Given the description of an element on the screen output the (x, y) to click on. 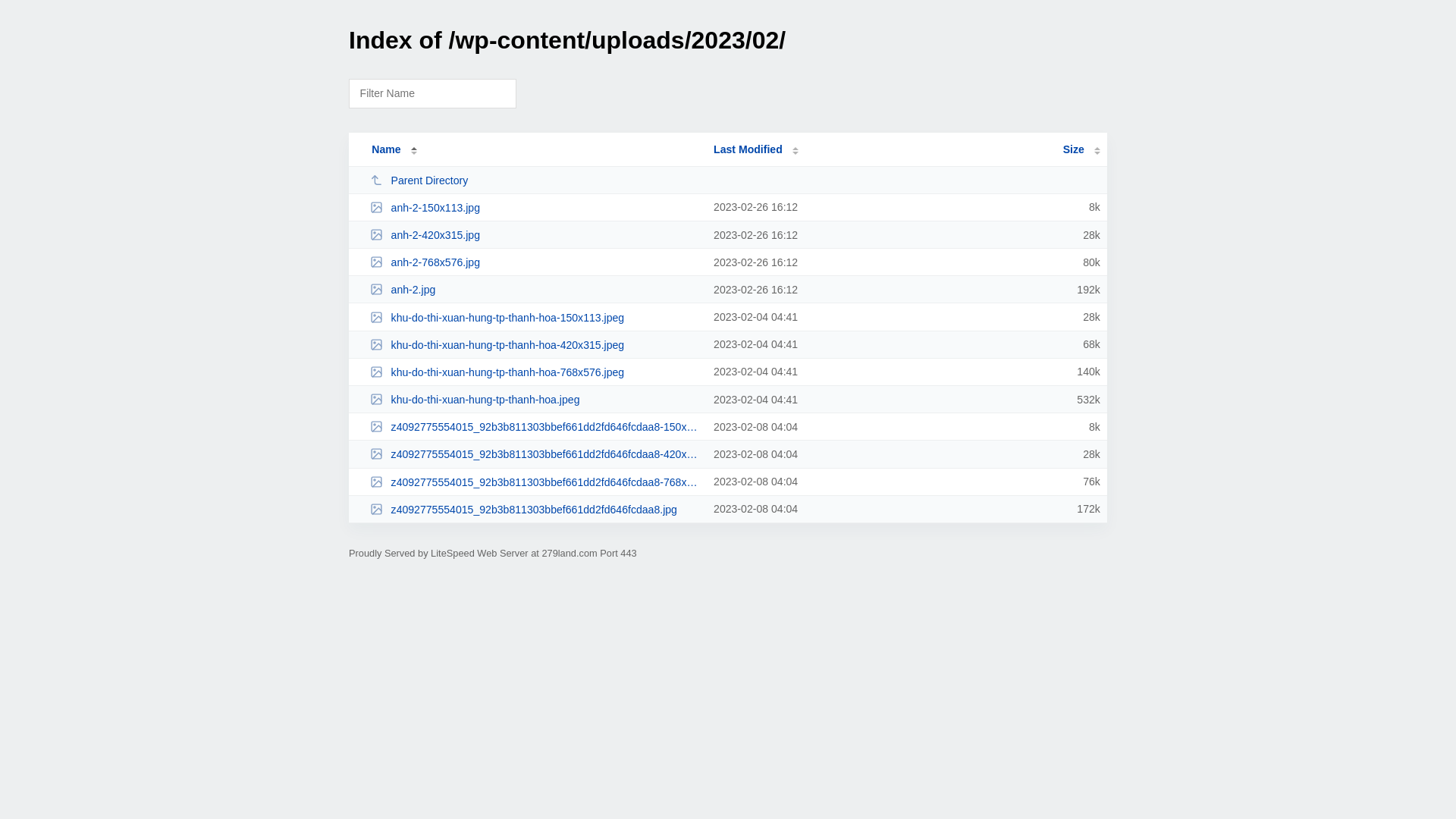
Size Element type: text (1081, 149)
khu-do-thi-xuan-hung-tp-thanh-hoa.jpeg Element type: text (534, 398)
anh-2-768x576.jpg Element type: text (534, 261)
z4092775554015_92b3b811303bbef661dd2fd646fcdaa8-768x576.jpg Element type: text (534, 481)
Name Element type: text (385, 149)
khu-do-thi-xuan-hung-tp-thanh-hoa-420x315.jpeg Element type: text (534, 344)
anh-2-420x315.jpg Element type: text (534, 234)
anh-2.jpg Element type: text (534, 288)
Last Modified Element type: text (755, 149)
khu-do-thi-xuan-hung-tp-thanh-hoa-768x576.jpeg Element type: text (534, 371)
Parent Directory Element type: text (534, 179)
z4092775554015_92b3b811303bbef661dd2fd646fcdaa8-150x113.jpg Element type: text (534, 426)
z4092775554015_92b3b811303bbef661dd2fd646fcdaa8.jpg Element type: text (534, 508)
khu-do-thi-xuan-hung-tp-thanh-hoa-150x113.jpeg Element type: text (534, 316)
anh-2-150x113.jpg Element type: text (534, 206)
z4092775554015_92b3b811303bbef661dd2fd646fcdaa8-420x315.jpg Element type: text (534, 453)
